Given the description of an element on the screen output the (x, y) to click on. 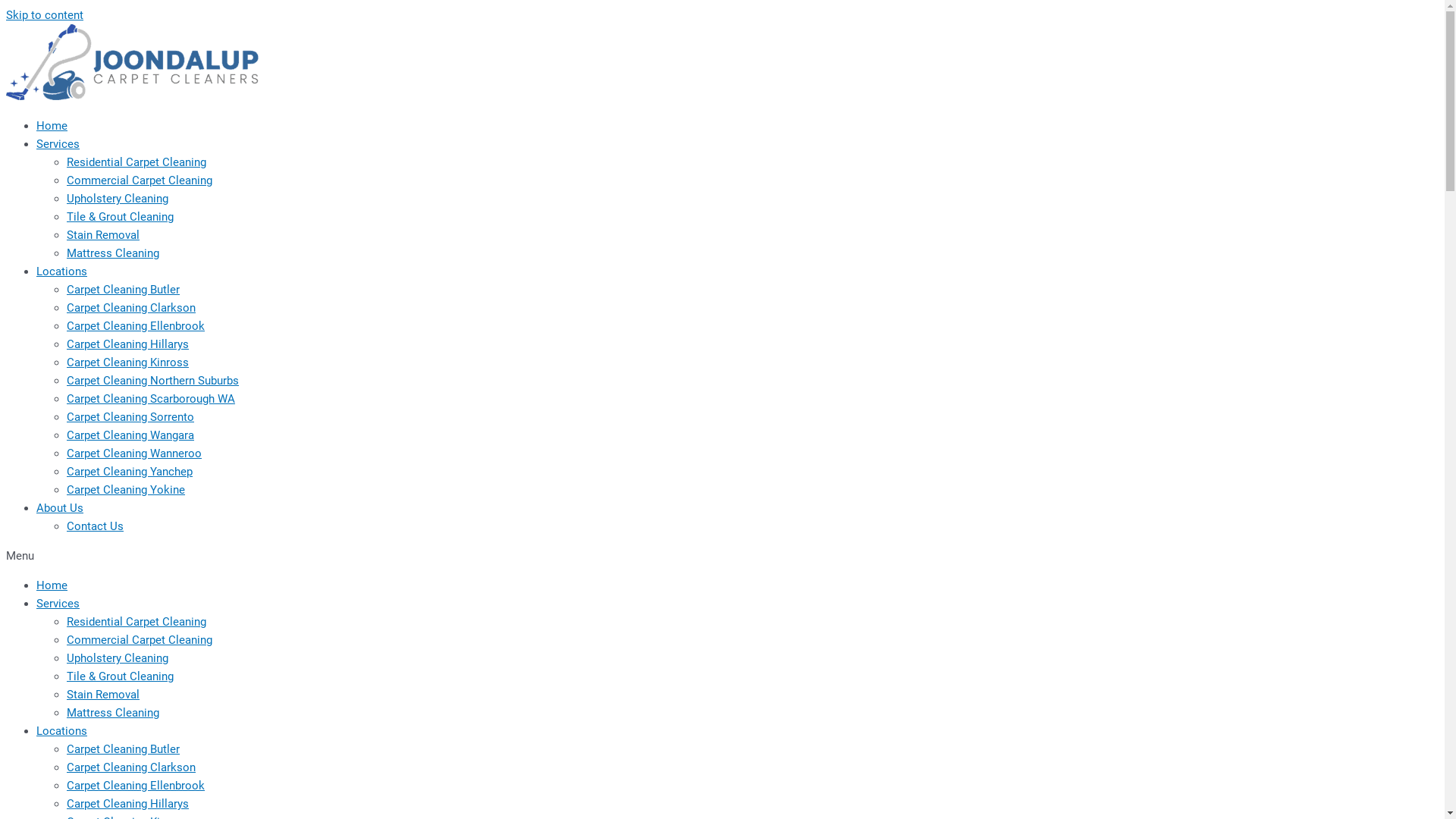
Stain Removal Element type: text (102, 234)
Stain Removal Element type: text (102, 694)
Tile & Grout Cleaning Element type: text (119, 676)
Carpet Cleaning Yokine Element type: text (125, 489)
Carpet Cleaning Northern Suburbs Element type: text (152, 380)
Commercial Carpet Cleaning Element type: text (139, 180)
About Us Element type: text (59, 507)
Carpet Cleaning Wangara Element type: text (130, 435)
Commercial Carpet Cleaning Element type: text (139, 639)
Tile & Grout Cleaning Element type: text (119, 216)
Carpet Cleaning Wanneroo Element type: text (133, 453)
Carpet Cleaning Clarkson Element type: text (130, 307)
Mattress Cleaning Element type: text (112, 253)
Locations Element type: text (61, 730)
Upholstery Cleaning Element type: text (117, 198)
Carpet Cleaning Hillarys Element type: text (127, 344)
Carpet Cleaning Scarborough WA Element type: text (150, 398)
Carpet Cleaning Clarkson Element type: text (130, 767)
Contact Us Element type: text (94, 526)
Home Element type: text (51, 585)
Carpet Cleaning Hillarys Element type: text (127, 803)
Skip to content Element type: text (44, 14)
Carpet Cleaning Butler Element type: text (122, 289)
Services Element type: text (57, 143)
Mattress Cleaning Element type: text (112, 712)
Upholstery Cleaning Element type: text (117, 658)
Carpet Cleaning Ellenbrook Element type: text (135, 785)
Residential Carpet Cleaning Element type: text (136, 621)
Carpet Cleaning Kinross Element type: text (127, 362)
Services Element type: text (57, 603)
Carpet Cleaning Yanchep Element type: text (129, 471)
Home Element type: text (51, 125)
Carpet Cleaning Ellenbrook Element type: text (135, 325)
Carpet Cleaning Sorrento Element type: text (130, 416)
Carpet Cleaning Butler Element type: text (122, 749)
Residential Carpet Cleaning Element type: text (136, 162)
Locations Element type: text (61, 271)
